Given the description of an element on the screen output the (x, y) to click on. 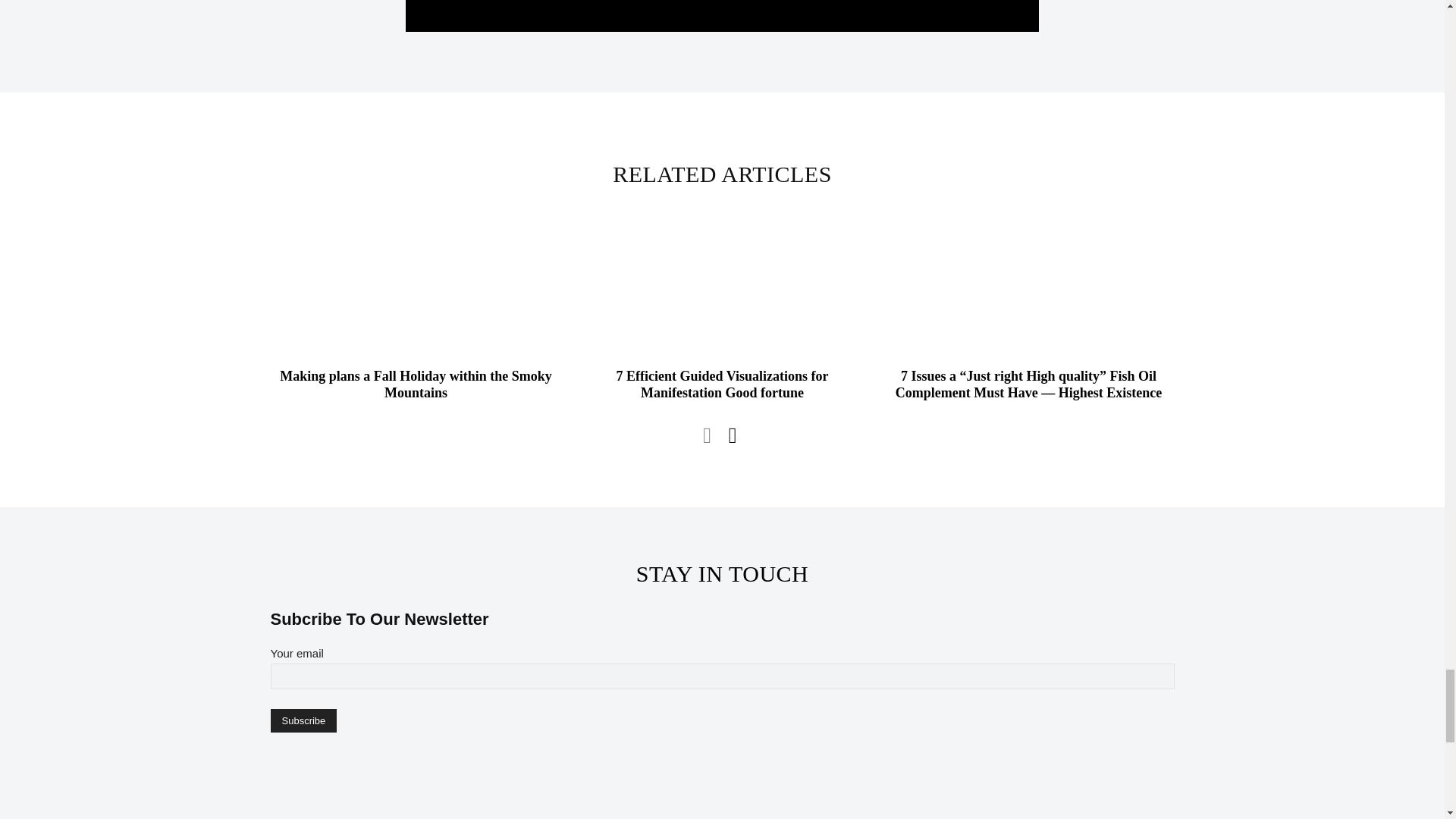
Subscribe (302, 720)
